Given the description of an element on the screen output the (x, y) to click on. 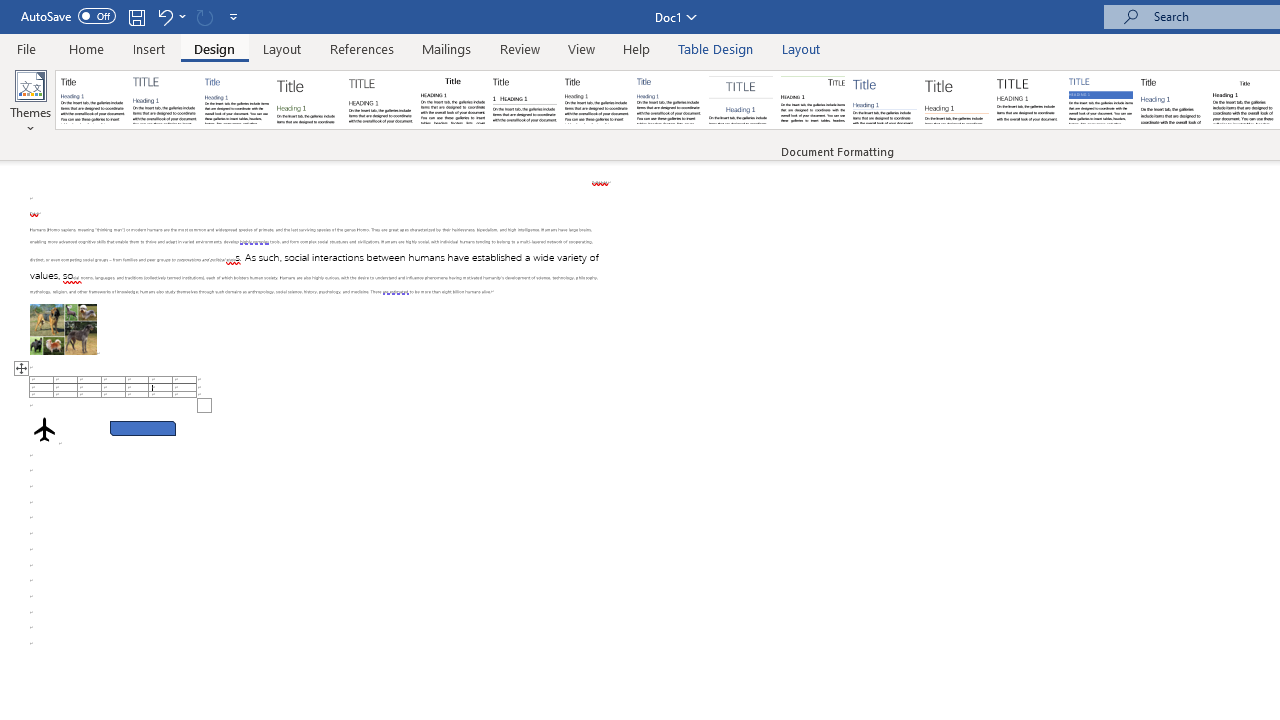
Black & White (Classic) (452, 100)
Undo Apply Quick Style Set (164, 15)
Lines (Simple) (884, 100)
Morphological variation in six dogs (63, 328)
Basic (Elegant) (164, 100)
Themes (30, 102)
Rectangle: Diagonal Corners Snipped 2 (143, 428)
